Given the description of an element on the screen output the (x, y) to click on. 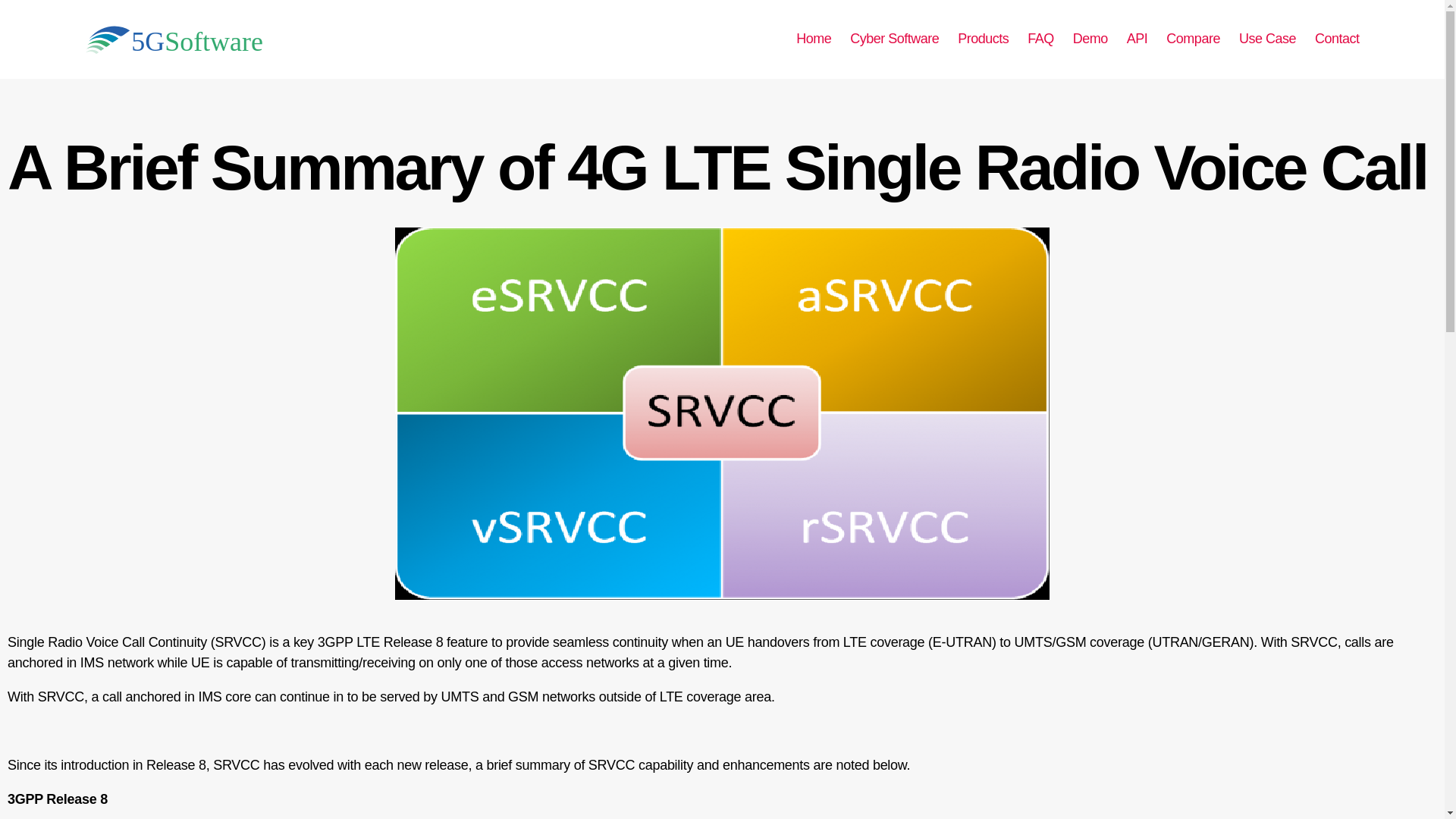
Cyber Software (894, 39)
API (1137, 39)
FAQ (1040, 39)
Contact (1336, 39)
Use Case (1267, 39)
Home (813, 39)
Compare (1193, 39)
Demo (1090, 39)
Products (983, 39)
